Given the description of an element on the screen output the (x, y) to click on. 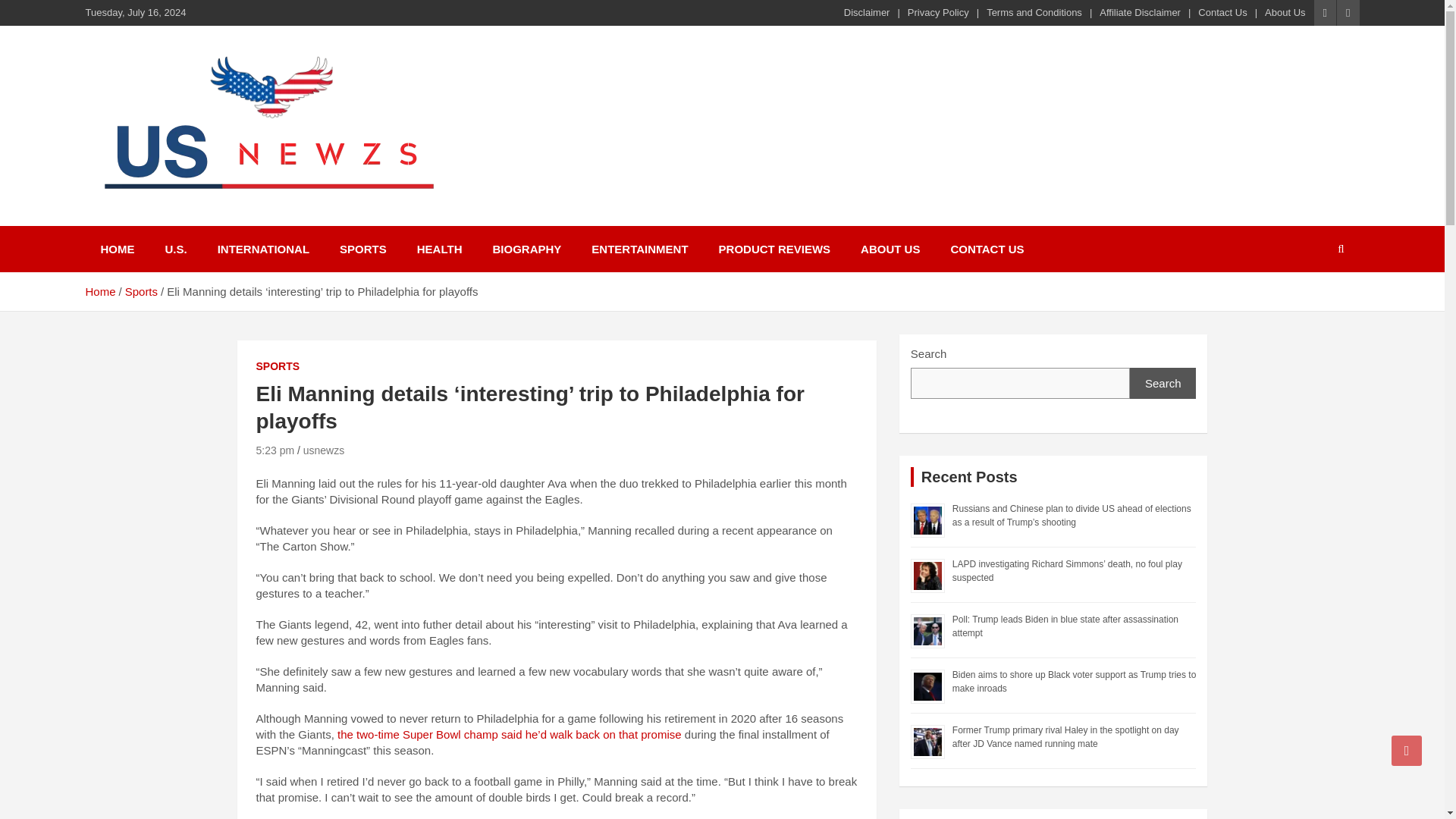
INTERNATIONAL (263, 248)
U.S. (175, 248)
PRODUCT REVIEWS (774, 248)
Go to Top (1406, 750)
Disclaimer (866, 12)
usnewzs (322, 450)
Sports (141, 291)
SPORTS (277, 366)
Privacy Policy (938, 12)
BIOGRAPHY (526, 248)
CONTACT US (986, 248)
ENTERTAINMENT (639, 248)
Contact Us (1222, 12)
HEALTH (439, 248)
About Us (1284, 12)
